Given the description of an element on the screen output the (x, y) to click on. 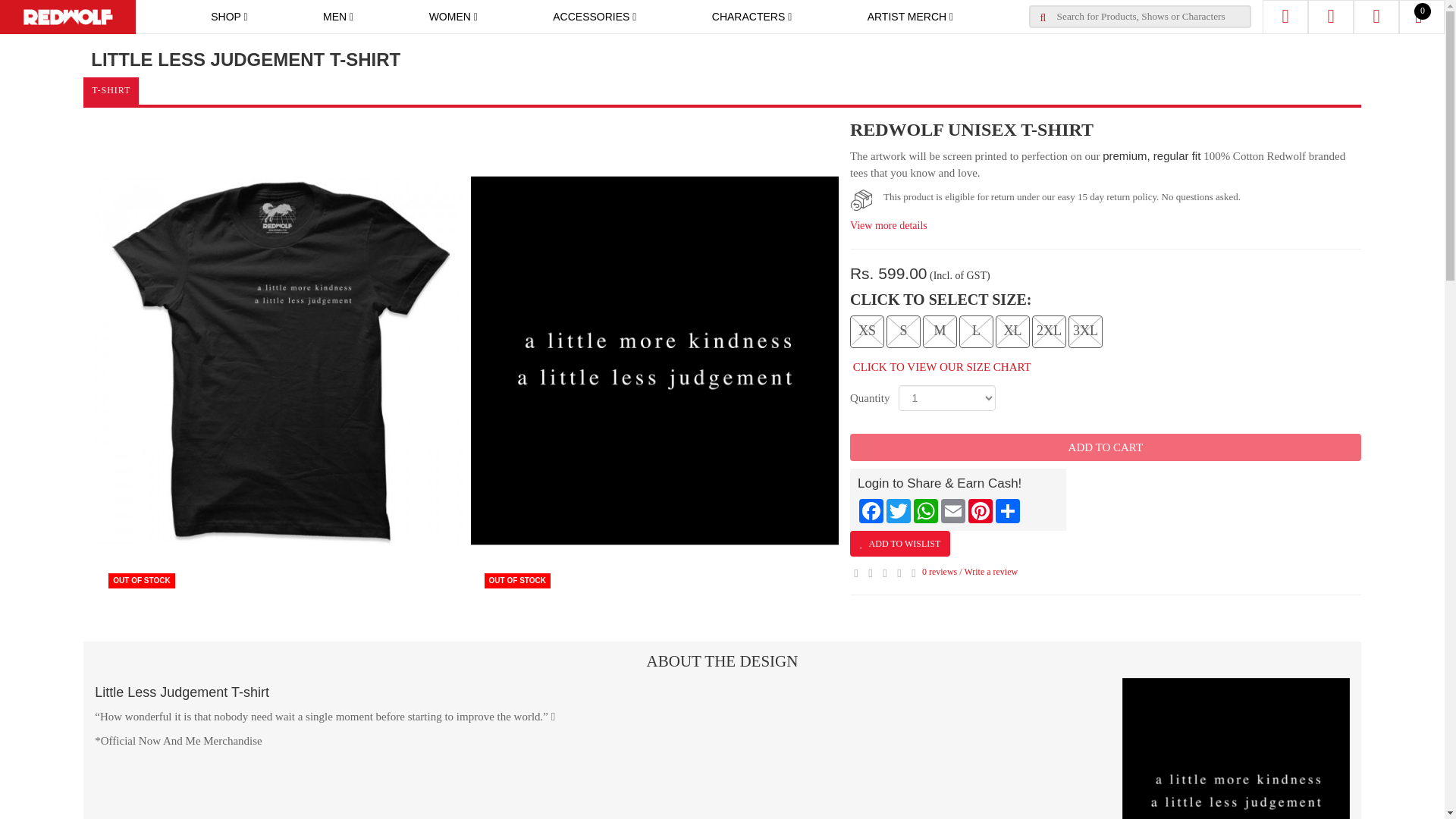
464912 (868, 329)
464916 (1013, 329)
464914 (943, 329)
Write a review (990, 571)
464918 (1083, 329)
464913 (908, 329)
Add to Wish List (900, 543)
464917 (1046, 329)
464915 (981, 329)
